Given the description of an element on the screen output the (x, y) to click on. 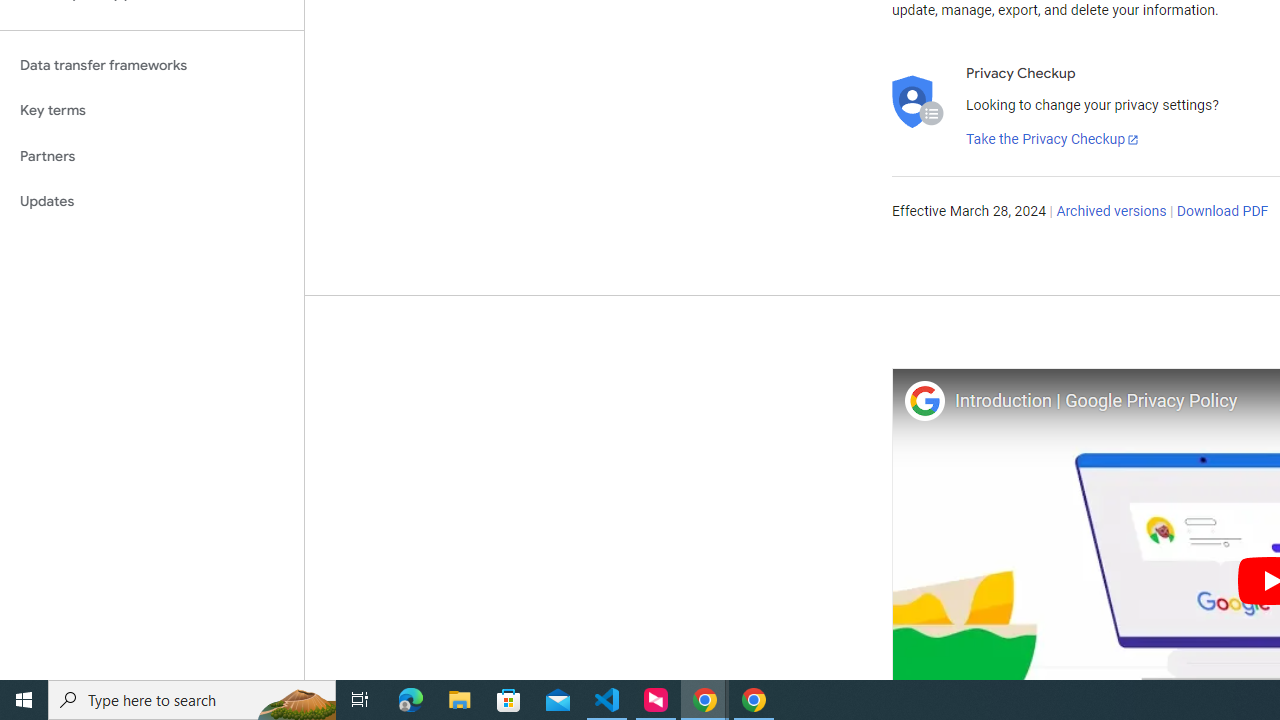
Updates (152, 201)
Photo image of Google (924, 400)
Take the Privacy Checkup (1053, 140)
Partners (152, 156)
Key terms (152, 110)
Download PDF (1222, 212)
Archived versions (1111, 212)
Data transfer frameworks (152, 65)
